Given the description of an element on the screen output the (x, y) to click on. 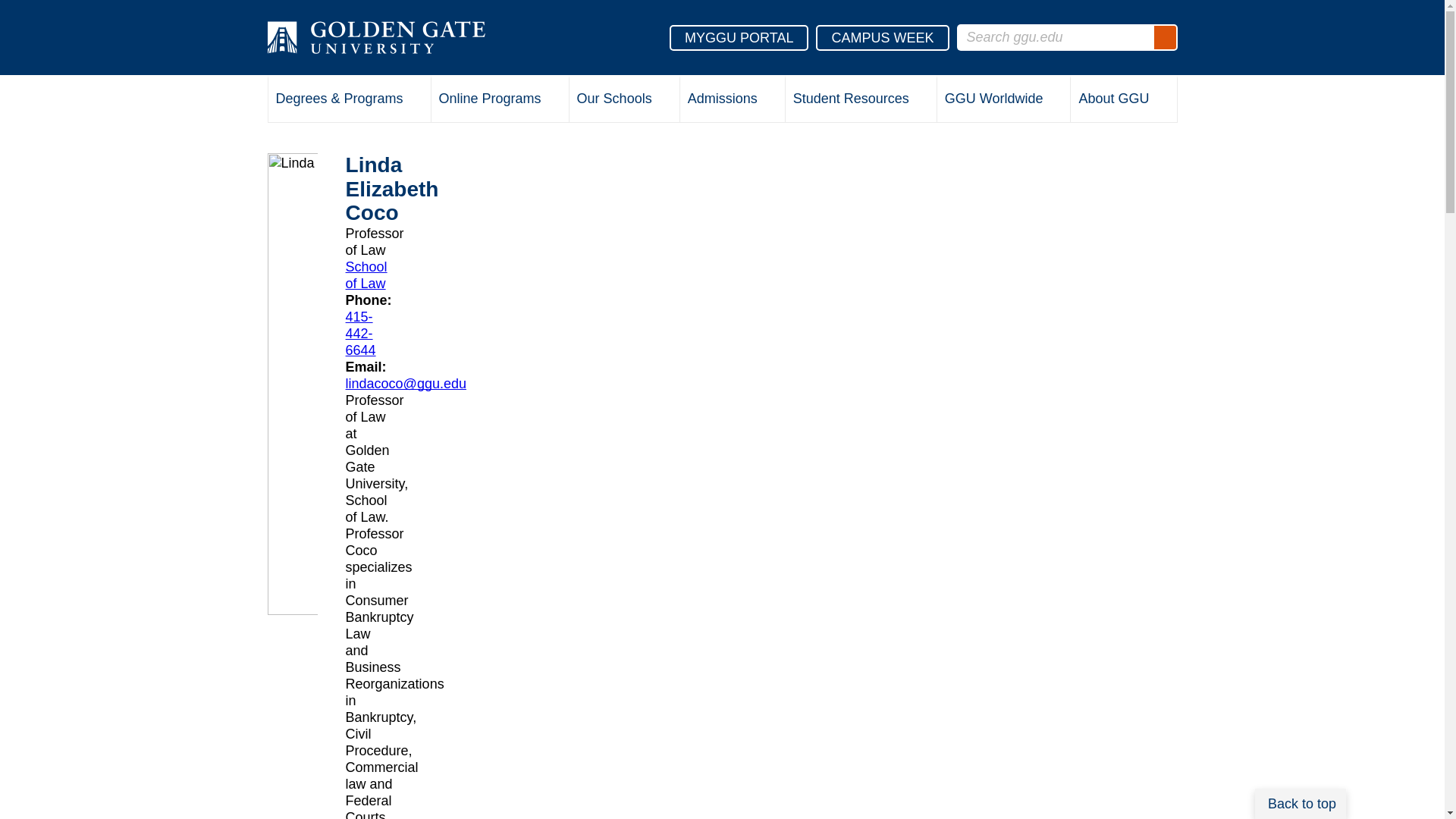
About GGU (1123, 100)
Expand Our Schools Submenu (664, 100)
Admissions (731, 100)
Search (1165, 37)
CAMPUS WEEK (882, 36)
MYGGU PORTAL (738, 36)
GGU Worldwide (1003, 100)
Expand About GGU Submenu (1161, 100)
Expand Student Resources Submenu (921, 100)
Expand Admissions Submenu (769, 100)
Student Resources (861, 100)
Online Programs (499, 100)
Our Schools (624, 100)
